Given the description of an element on the screen output the (x, y) to click on. 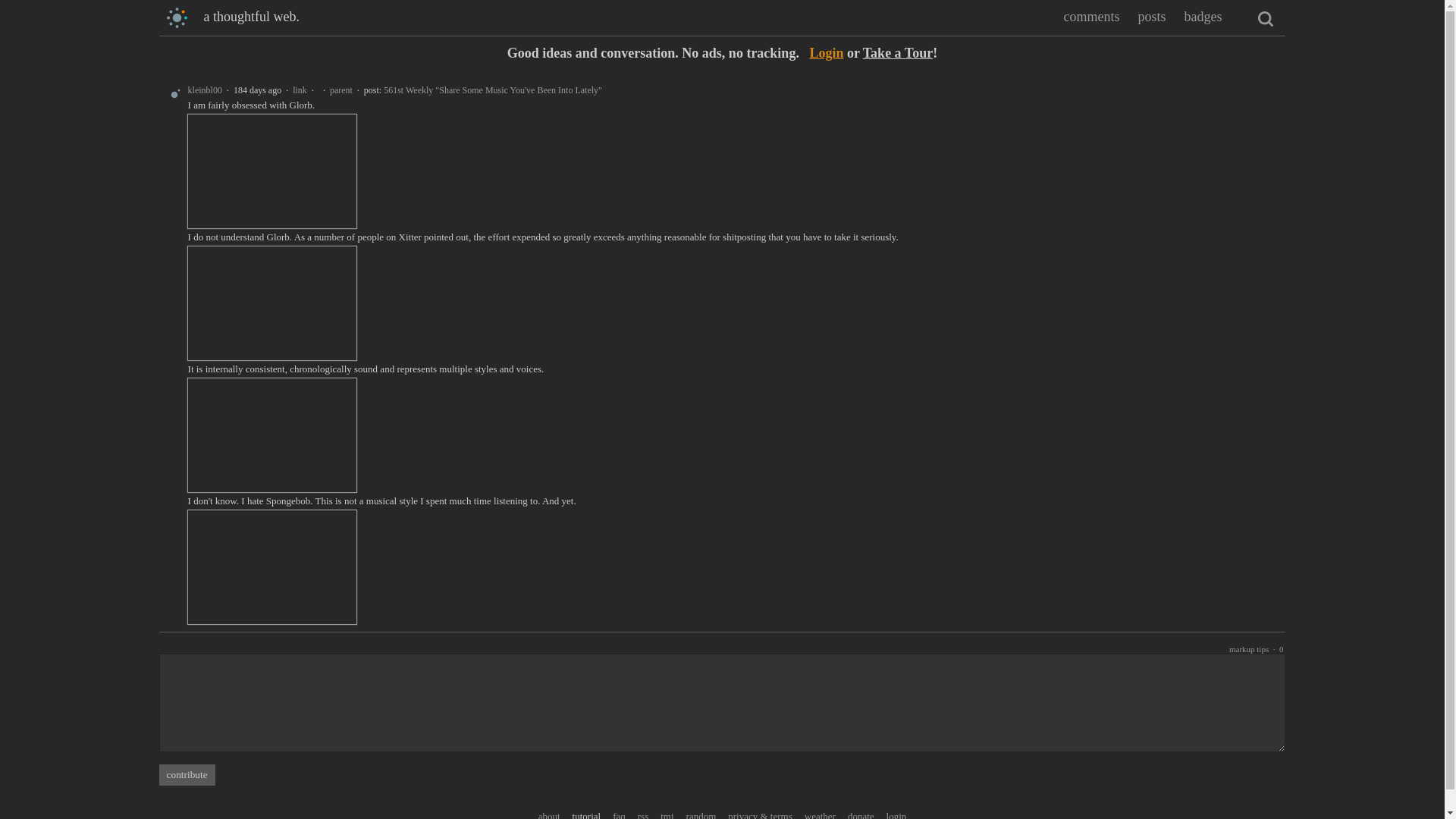
rss (642, 814)
Login (826, 52)
searchbox (1264, 18)
donate (861, 814)
561st Weekly "Share Some Music You've Been Into Lately" (493, 90)
login (896, 814)
badges (1202, 16)
markup tips (1248, 648)
tutorial (586, 814)
contribute (186, 774)
contribute (186, 774)
tmi (666, 814)
link (299, 90)
faq (619, 814)
weather (820, 814)
